Given the description of an element on the screen output the (x, y) to click on. 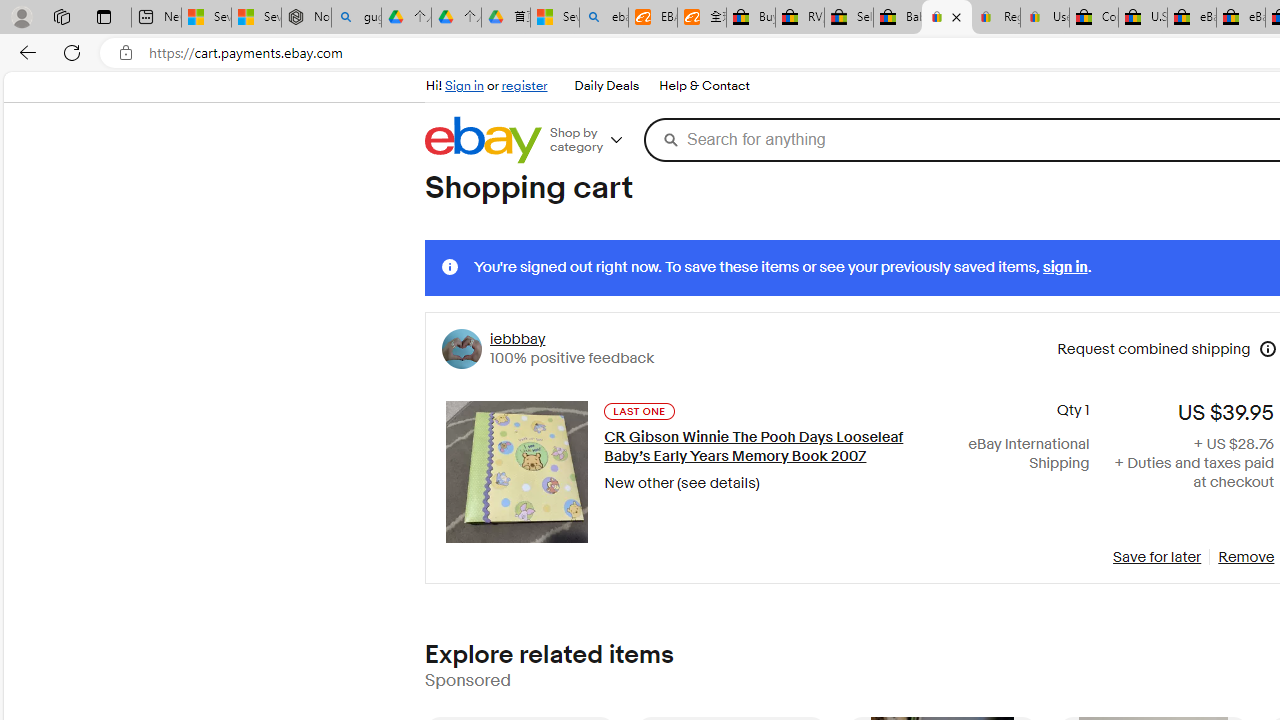
eBay Home (482, 139)
Buy Auto Parts & Accessories | eBay (750, 17)
User Privacy Notice | eBay (1044, 17)
eBay shopping cart (946, 17)
Daily Deals (606, 86)
